Given the description of an element on the screen output the (x, y) to click on. 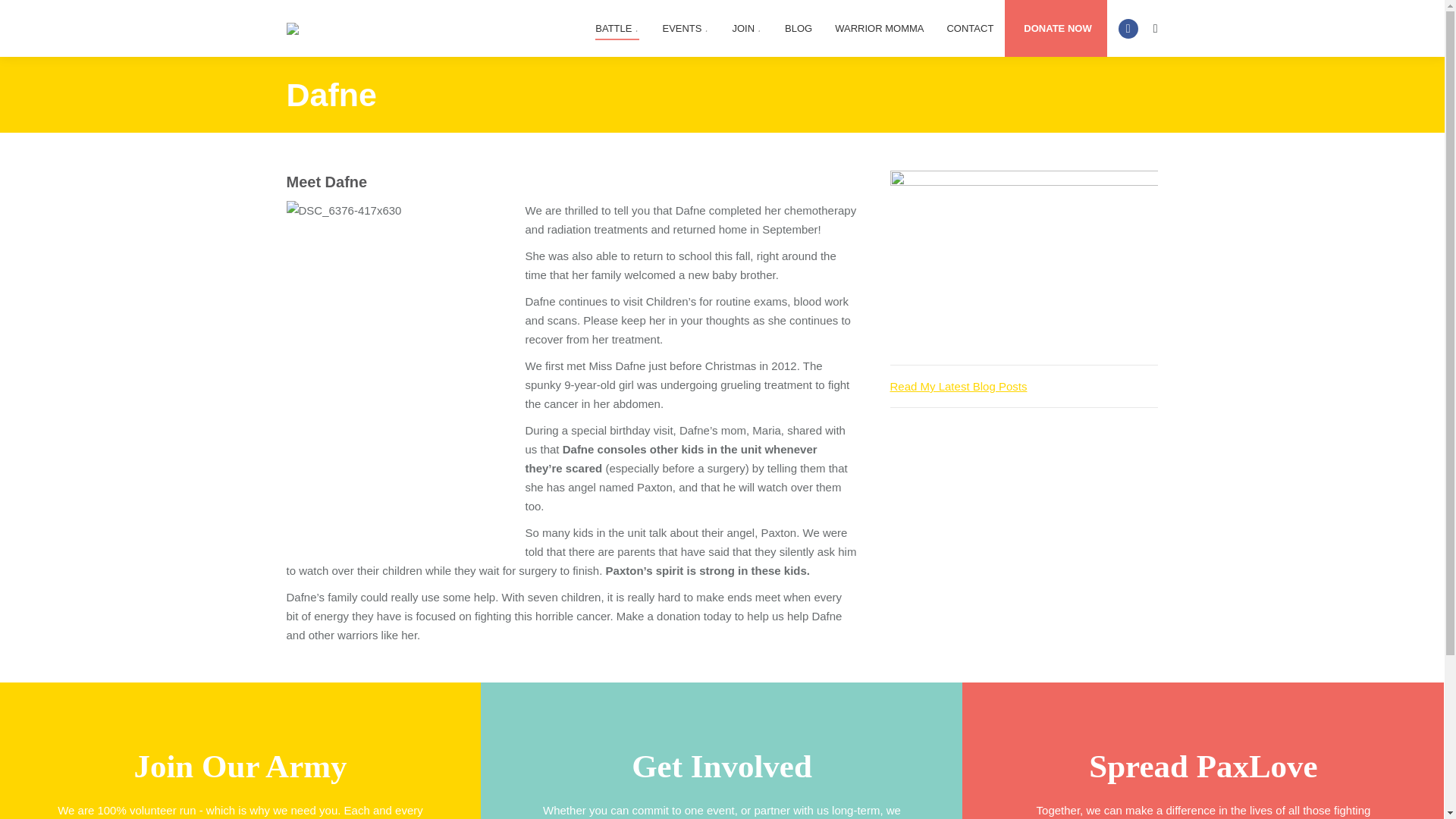
EVENTS (684, 28)
WARRIOR MOMMA (879, 28)
Facebook page opens in new window (1128, 27)
Facebook page opens in new window (1128, 27)
BATTLE (617, 28)
DONATE NOW (1057, 28)
JOIN (746, 28)
CONTACT (970, 28)
BLOG (798, 28)
